Given the description of an element on the screen output the (x, y) to click on. 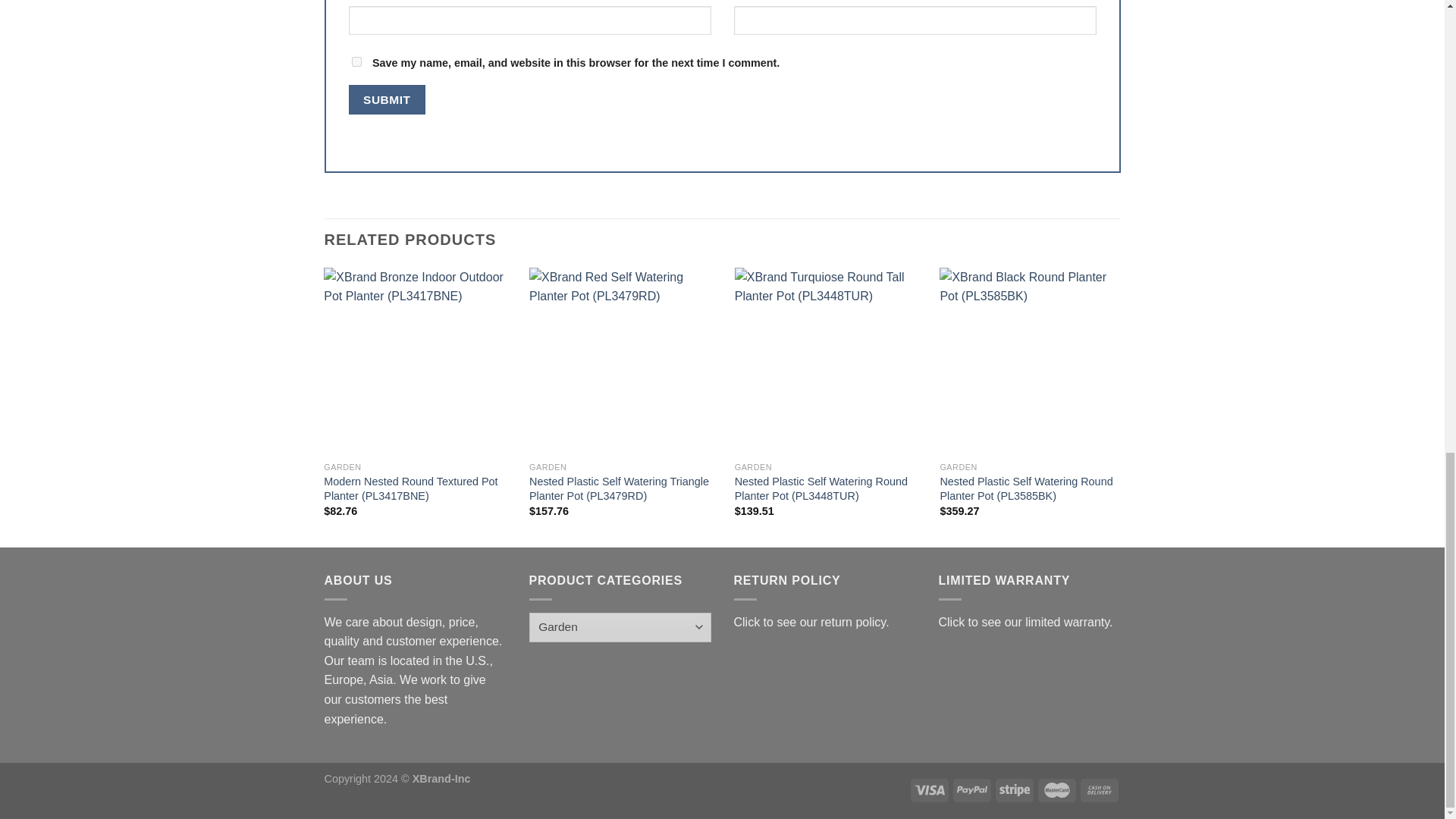
yes (356, 61)
Submit (387, 99)
